Given the description of an element on the screen output the (x, y) to click on. 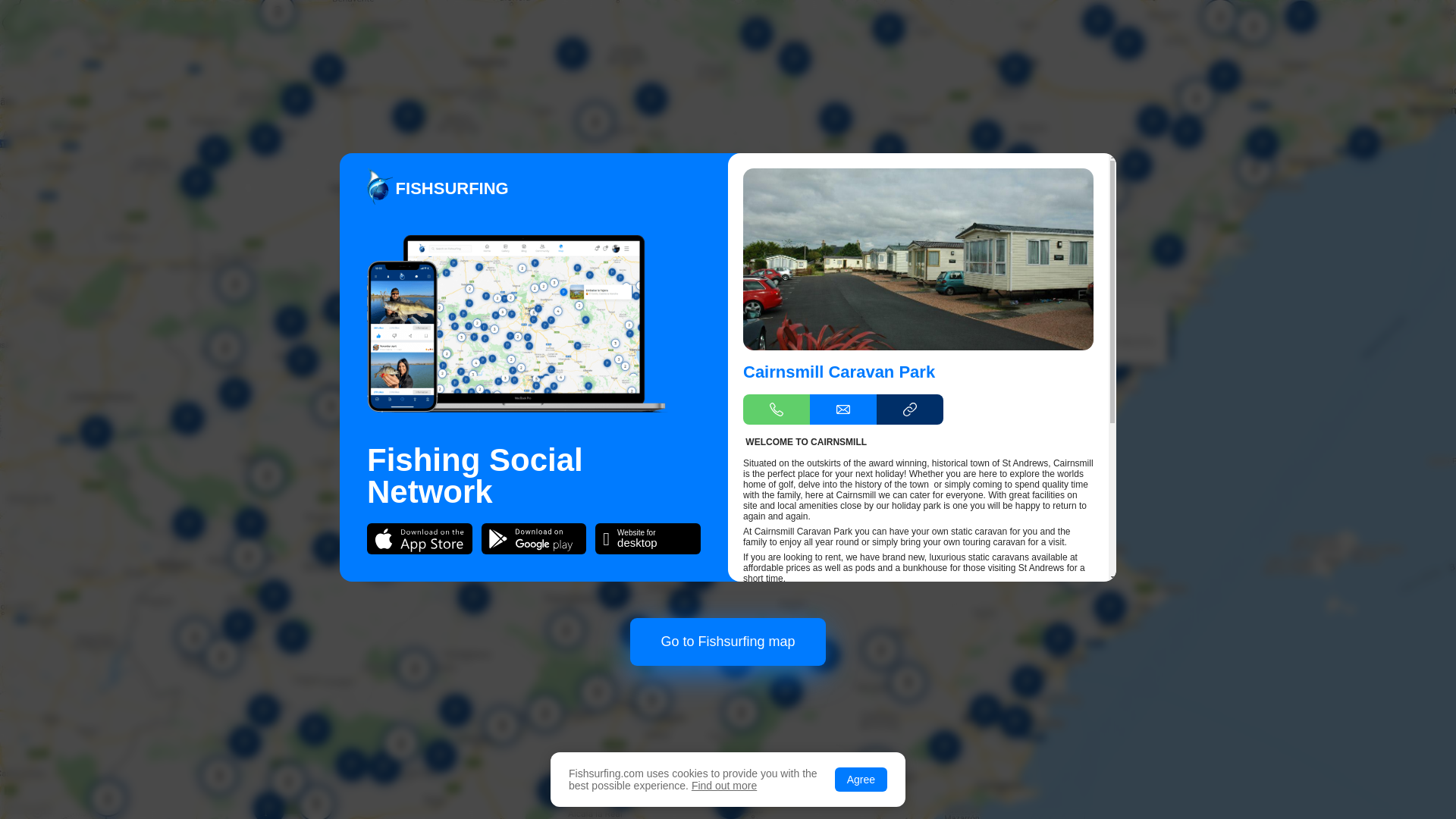
Find out more (724, 785)
Go to Fishsurfing map (845, 787)
FISHSURFING (845, 668)
